Given the description of an element on the screen output the (x, y) to click on. 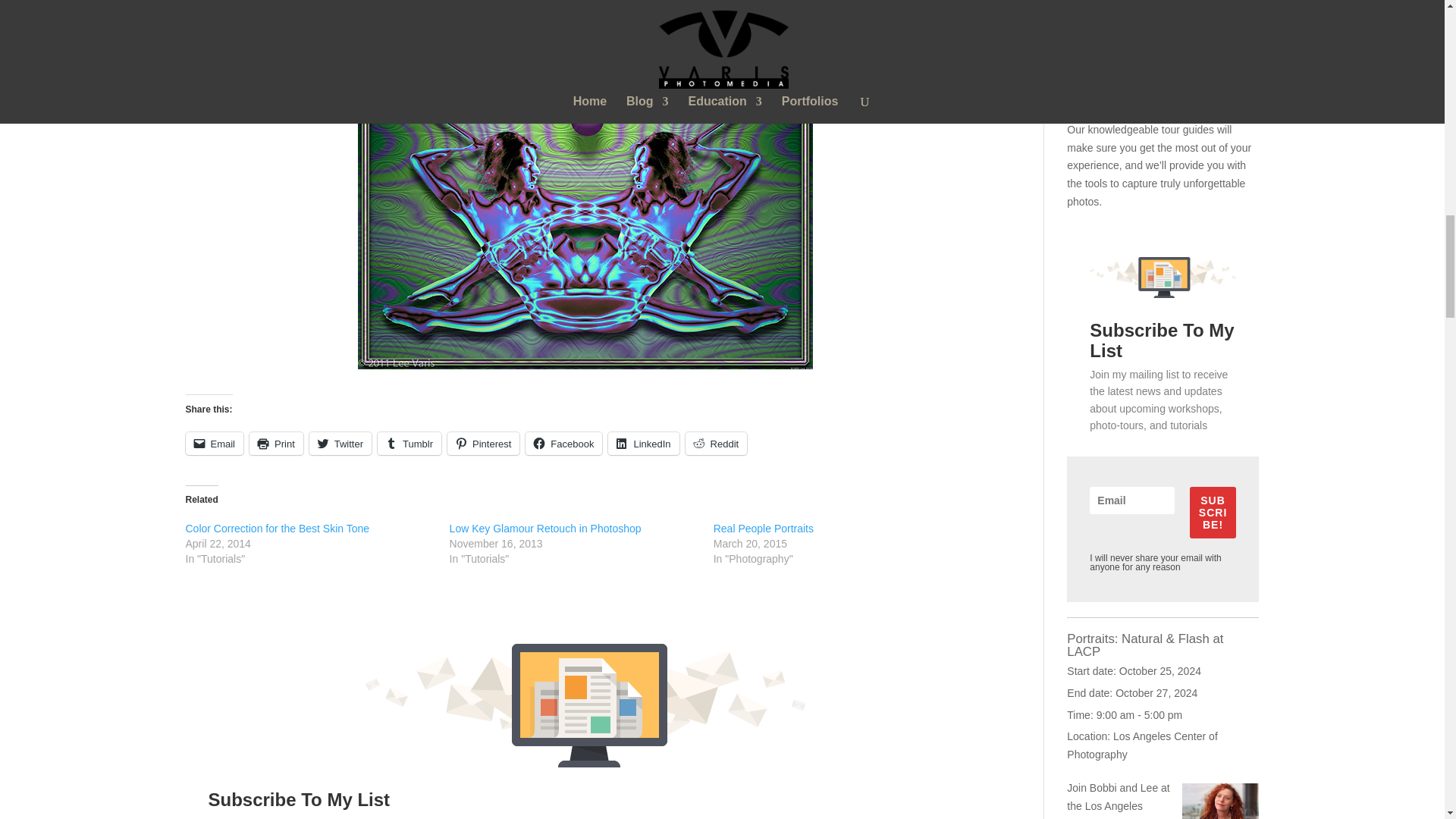
Click to email a link to a friend (213, 443)
